Given the description of an element on the screen output the (x, y) to click on. 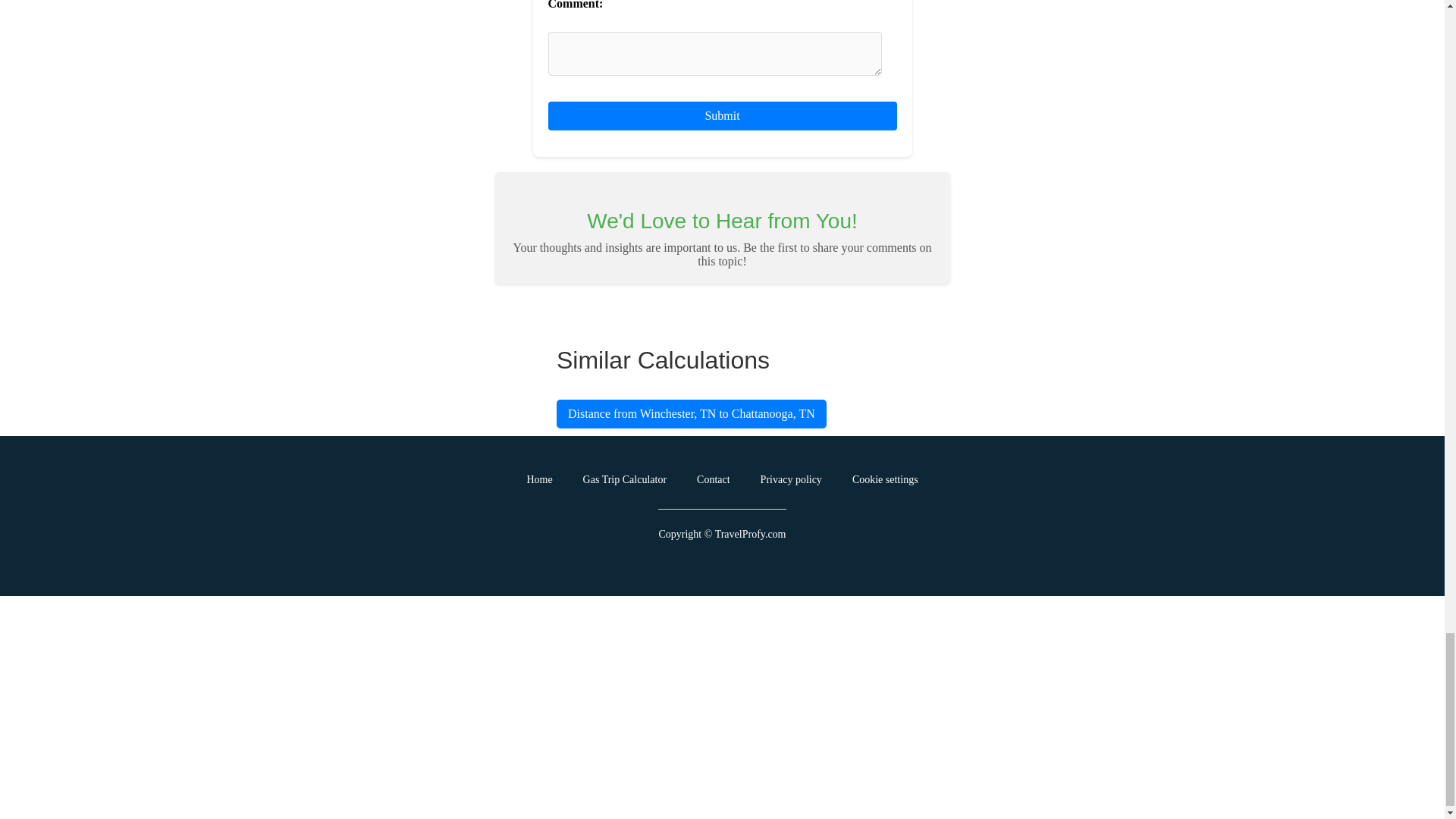
Contact (713, 480)
Submit (721, 115)
Distance from Winchester, TN to Chattanooga, TN (691, 413)
Submit (721, 115)
Gas Trip Calculator (624, 480)
Cookie settings (884, 480)
Home (538, 480)
Privacy policy (791, 480)
